Given the description of an element on the screen output the (x, y) to click on. 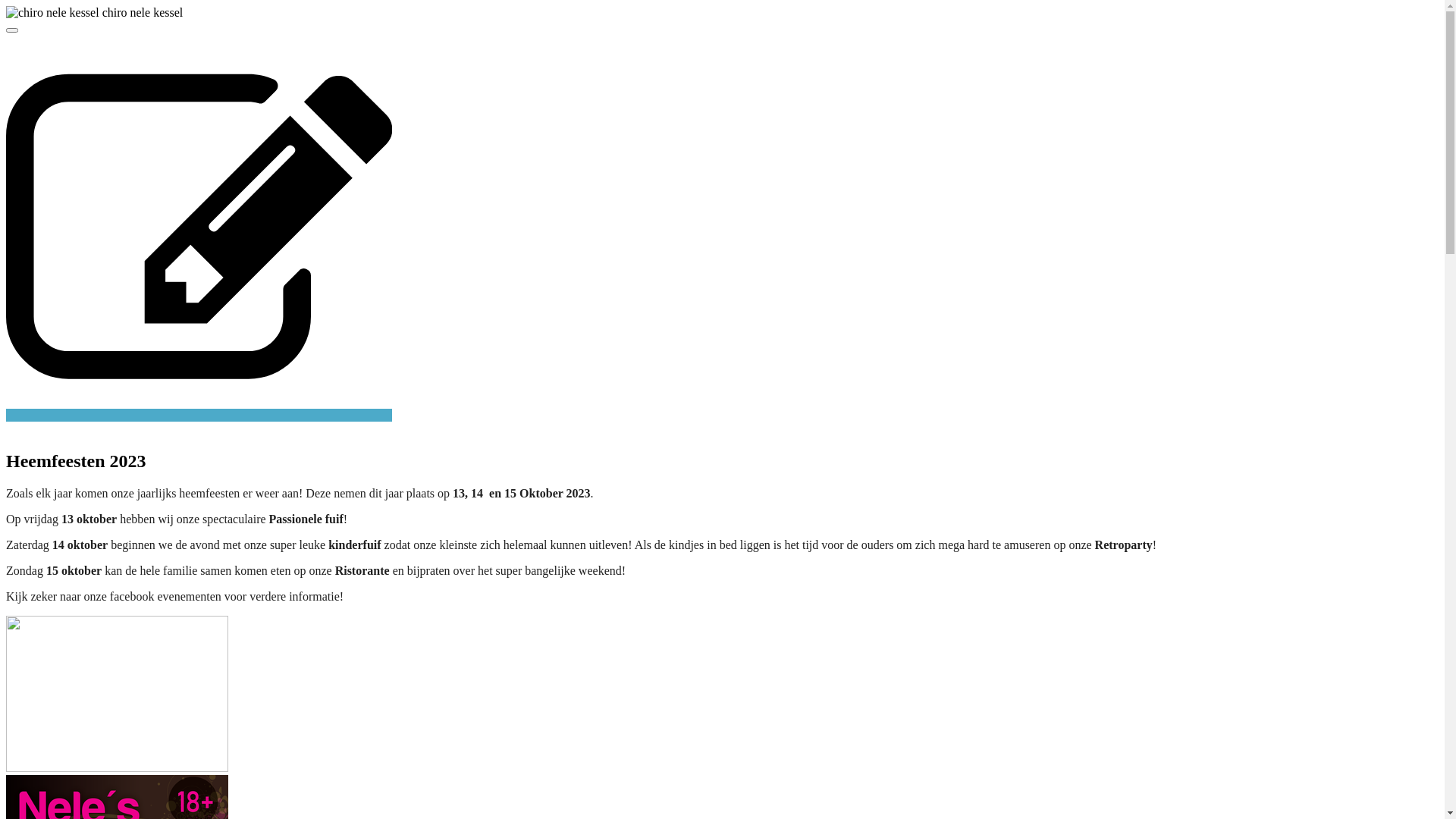
chiro nele kessel Element type: hover (52, 12)
Link naar inschrijvingsfiche Element type: text (722, 422)
